Given the description of an element on the screen output the (x, y) to click on. 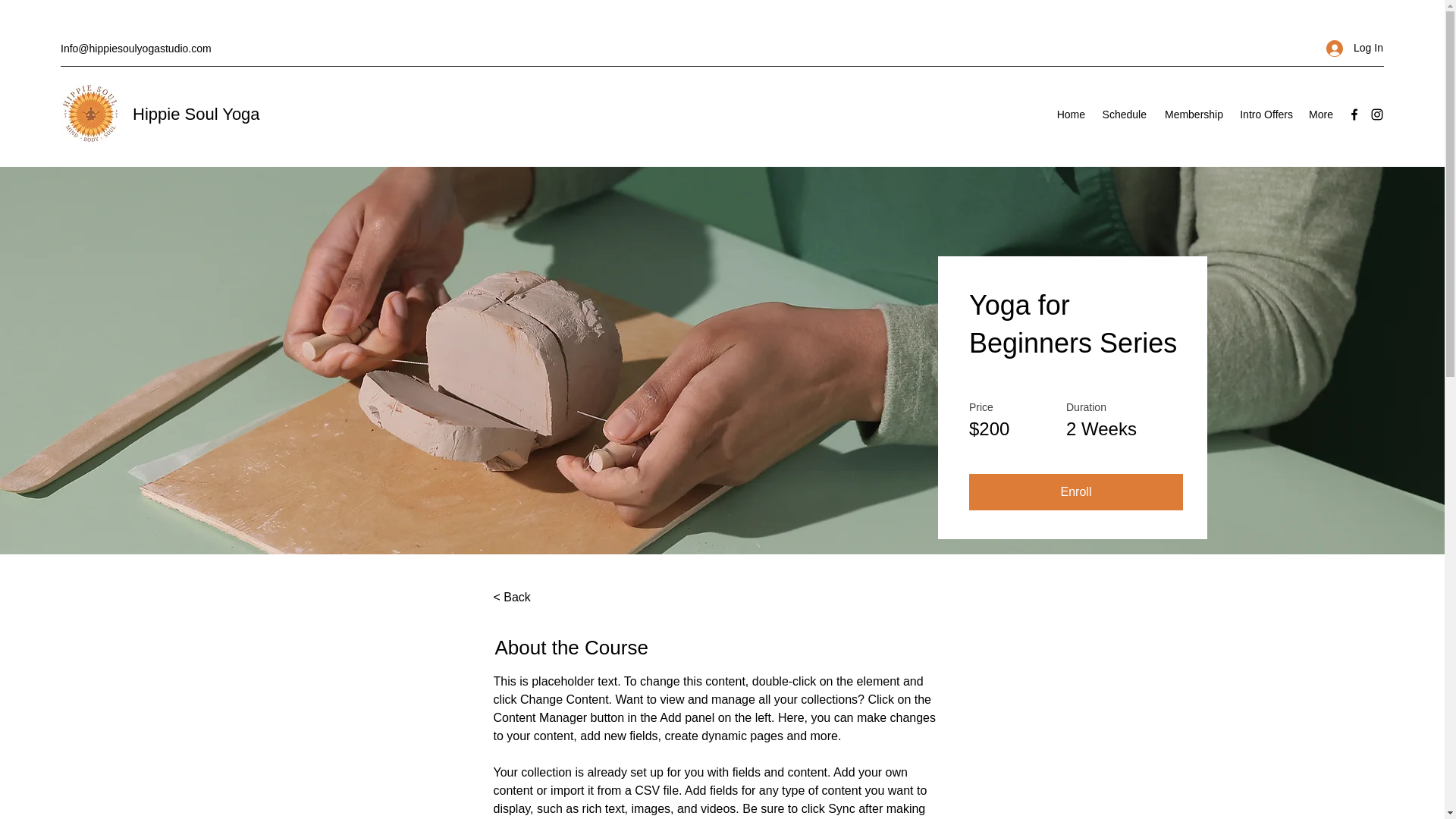
Log In (1350, 48)
Membership (1192, 114)
Home (1070, 114)
Hippie Soul Yoga  (198, 113)
Intro Offers (1265, 114)
Schedule (1123, 114)
